Given the description of an element on the screen output the (x, y) to click on. 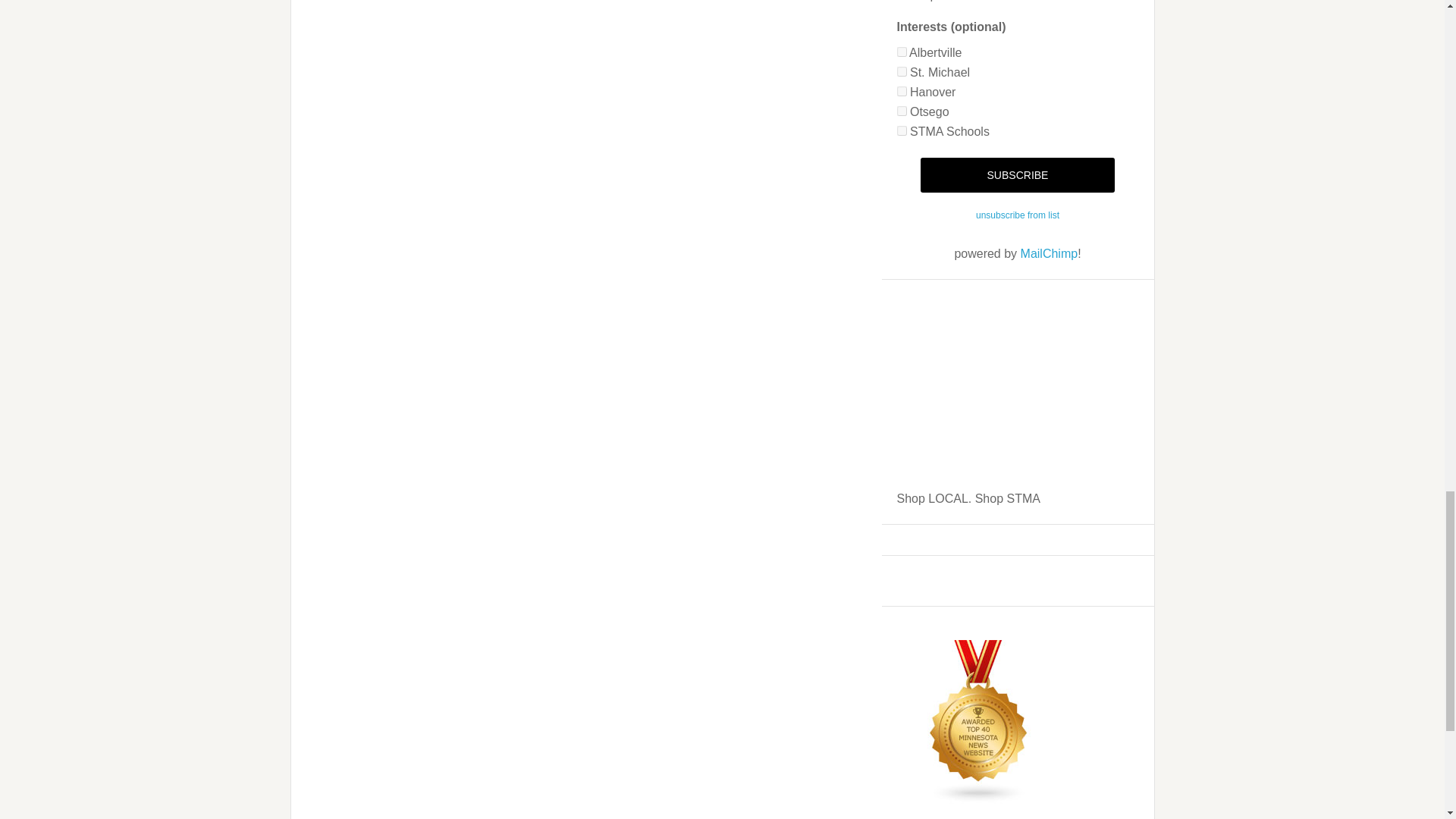
MailChimp (1049, 253)
STMA Schools (900, 130)
St. Michael (900, 71)
Subscribe (1016, 175)
Albertville (900, 51)
unsubscribe from list (1017, 214)
Hanover (900, 91)
Otsego (900, 111)
Subscribe (1016, 175)
